Given the description of an element on the screen output the (x, y) to click on. 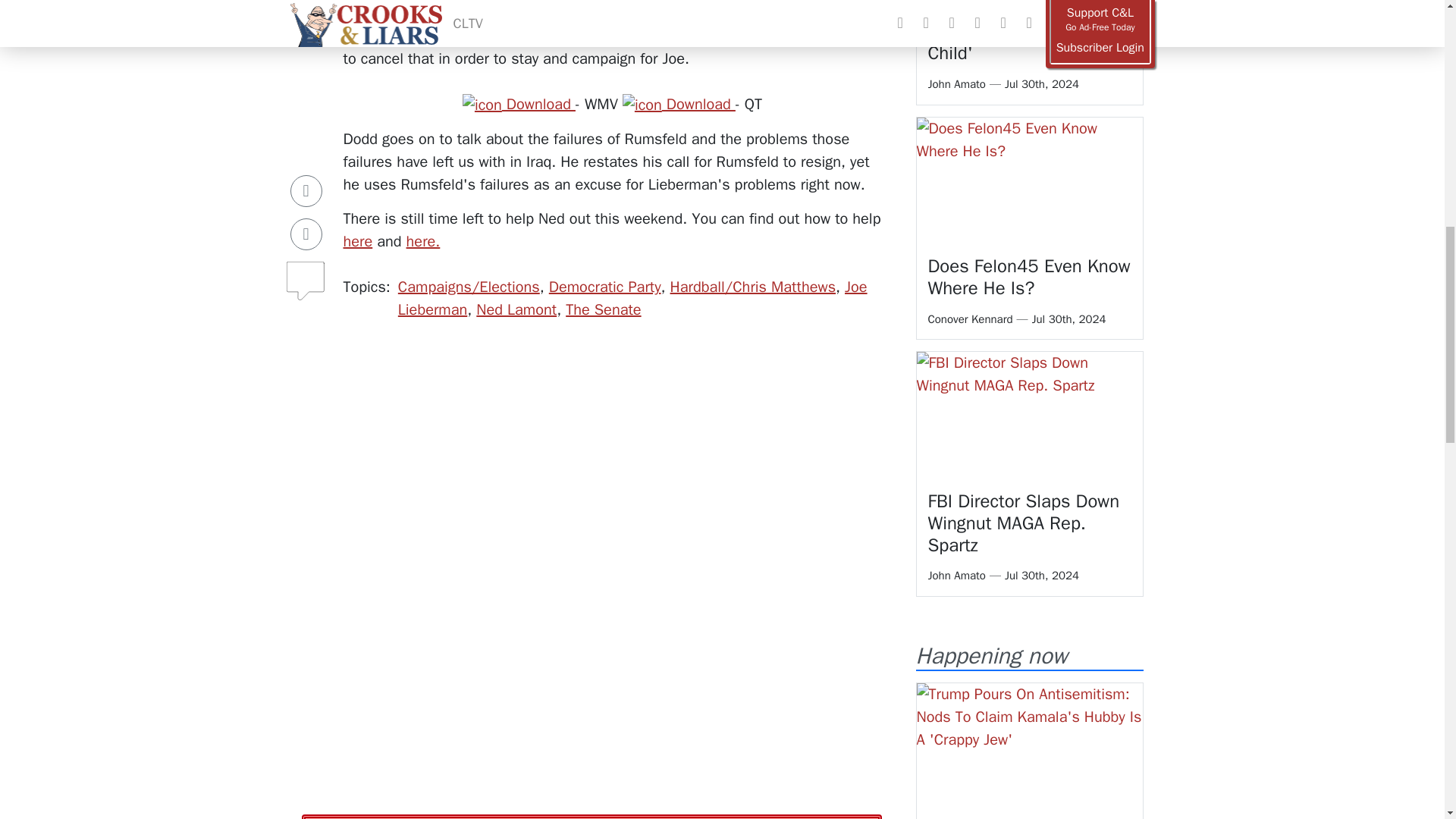
here. (423, 240)
here (357, 240)
Download (679, 104)
Democratic Party (604, 286)
Ned Lamont (516, 309)
Download (519, 104)
Joe Lieberman (632, 298)
